Given the description of an element on the screen output the (x, y) to click on. 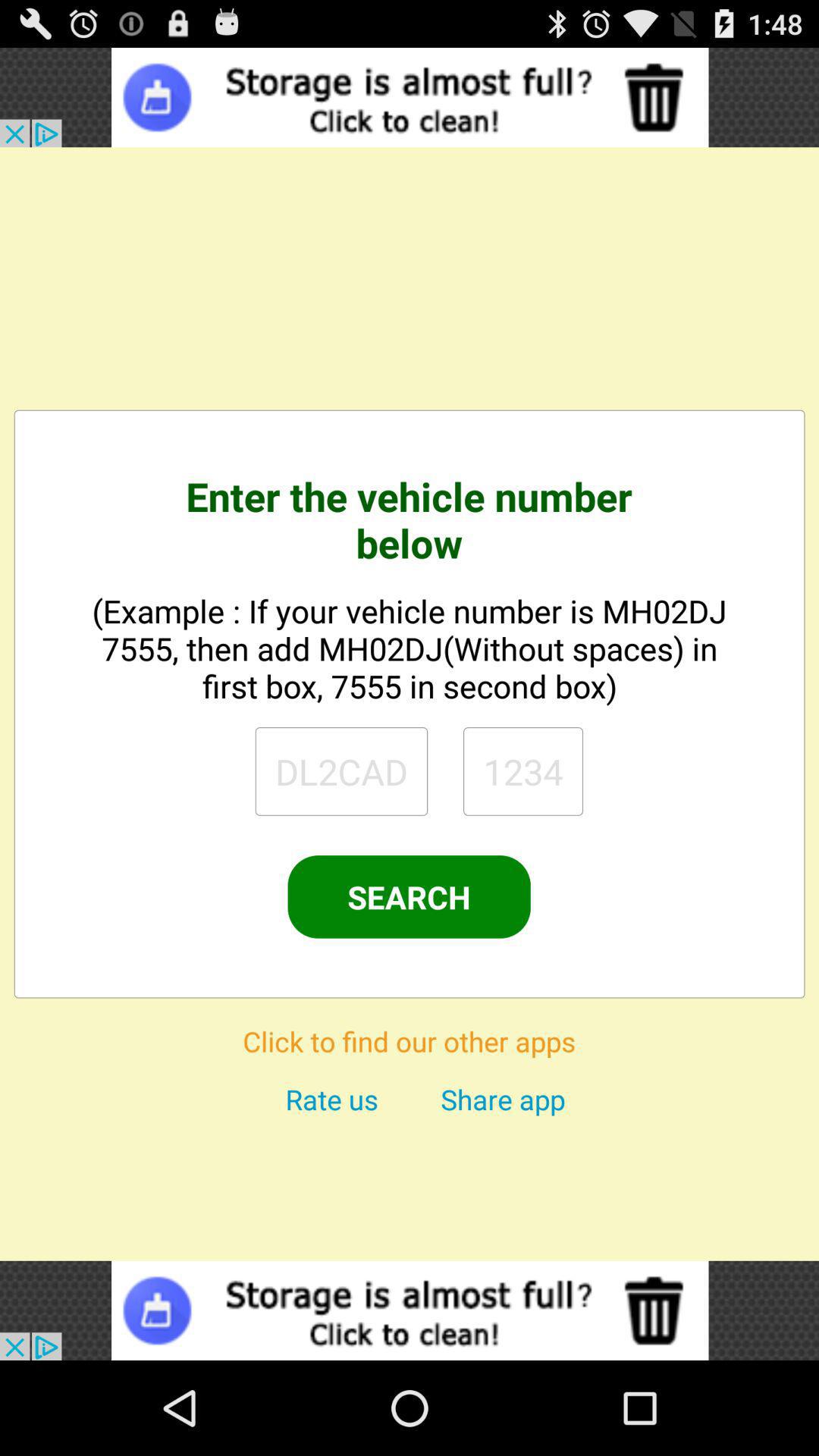
delete the app (409, 1310)
